Given the description of an element on the screen output the (x, y) to click on. 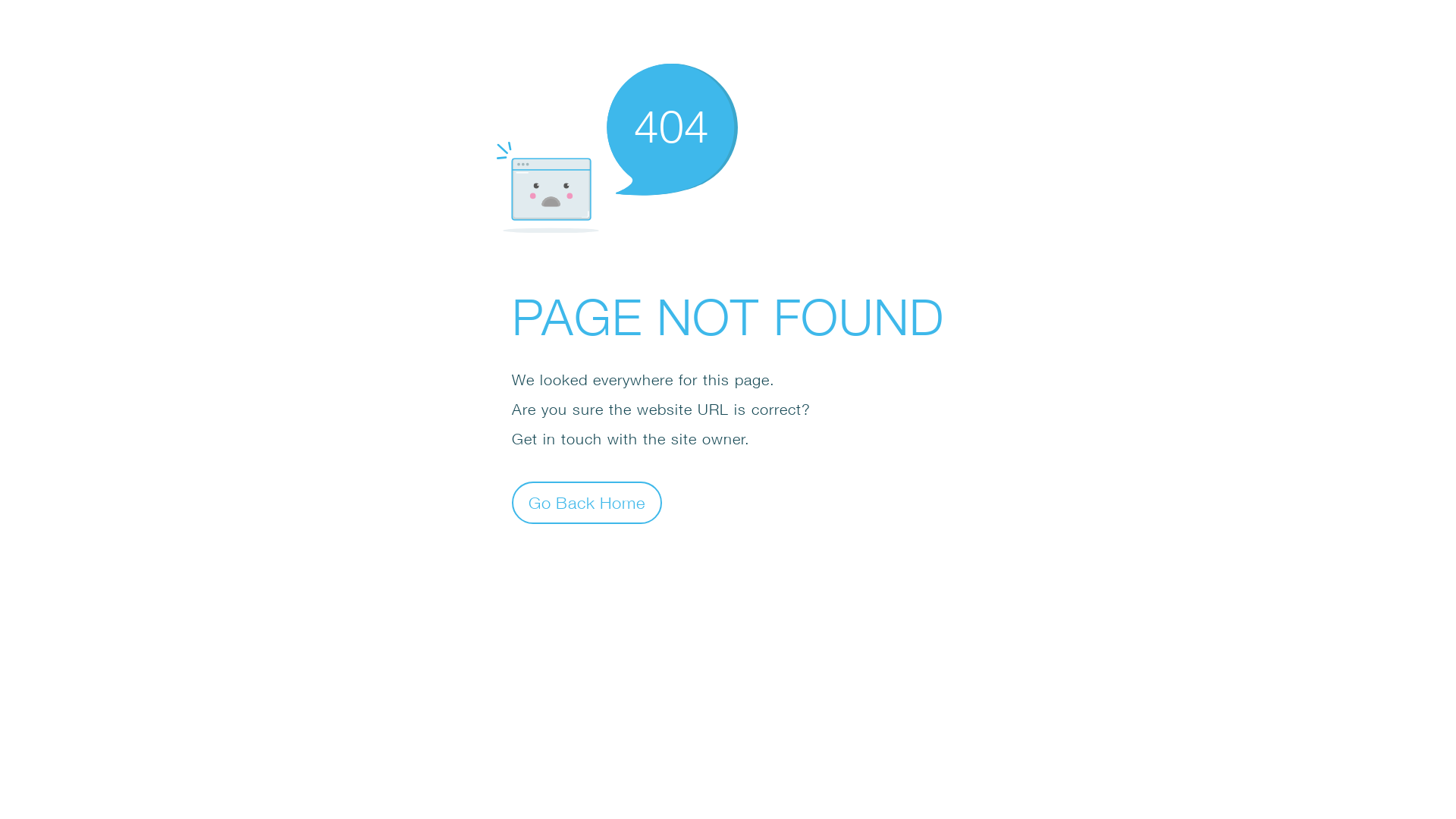
Go Back Home Element type: text (586, 502)
